Given the description of an element on the screen output the (x, y) to click on. 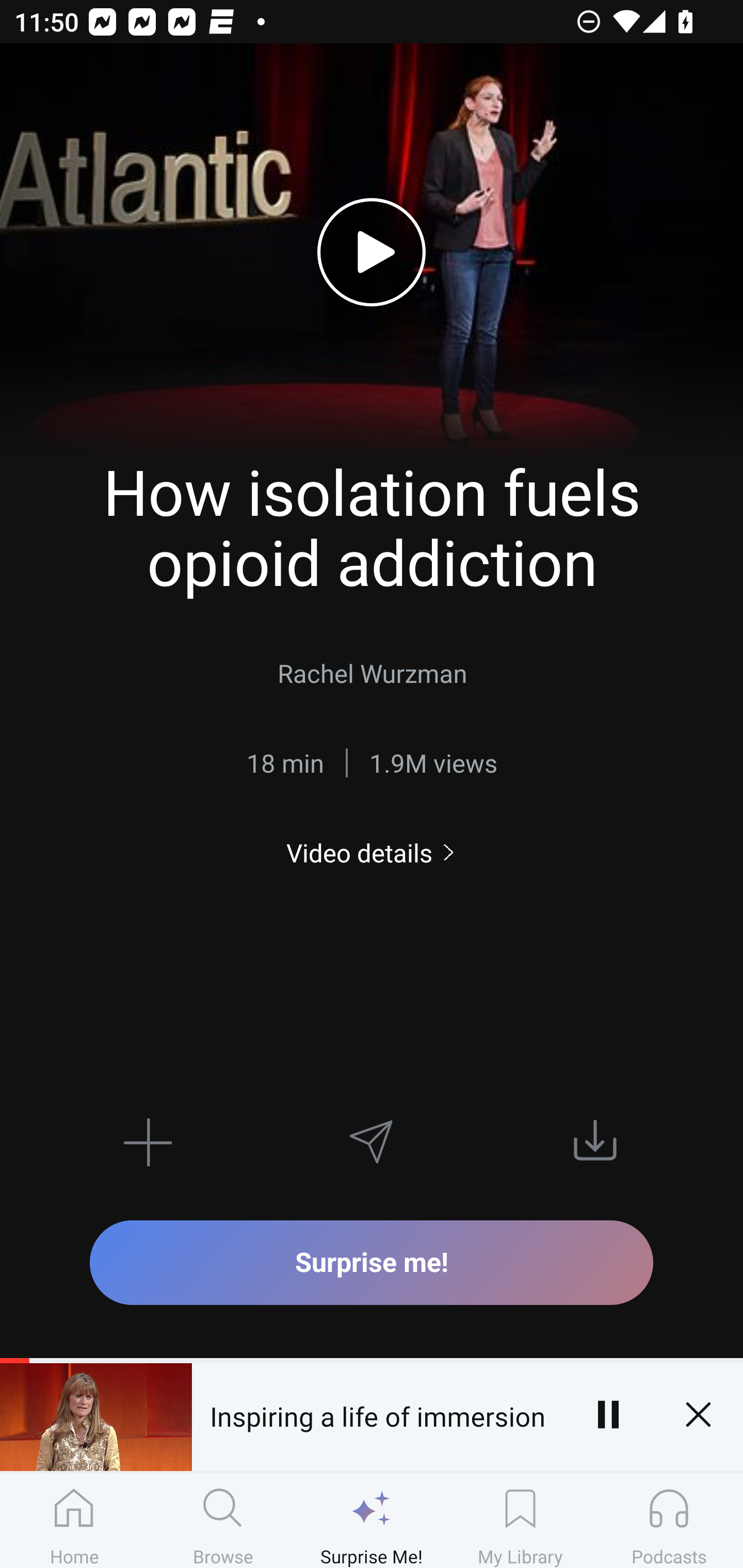
Video details (371, 852)
Surprise me! (371, 1261)
Inspiring a life of immersion (377, 1413)
Home (74, 1520)
Browse (222, 1520)
Surprise Me! (371, 1520)
My Library (519, 1520)
Podcasts (668, 1520)
